Given the description of an element on the screen output the (x, y) to click on. 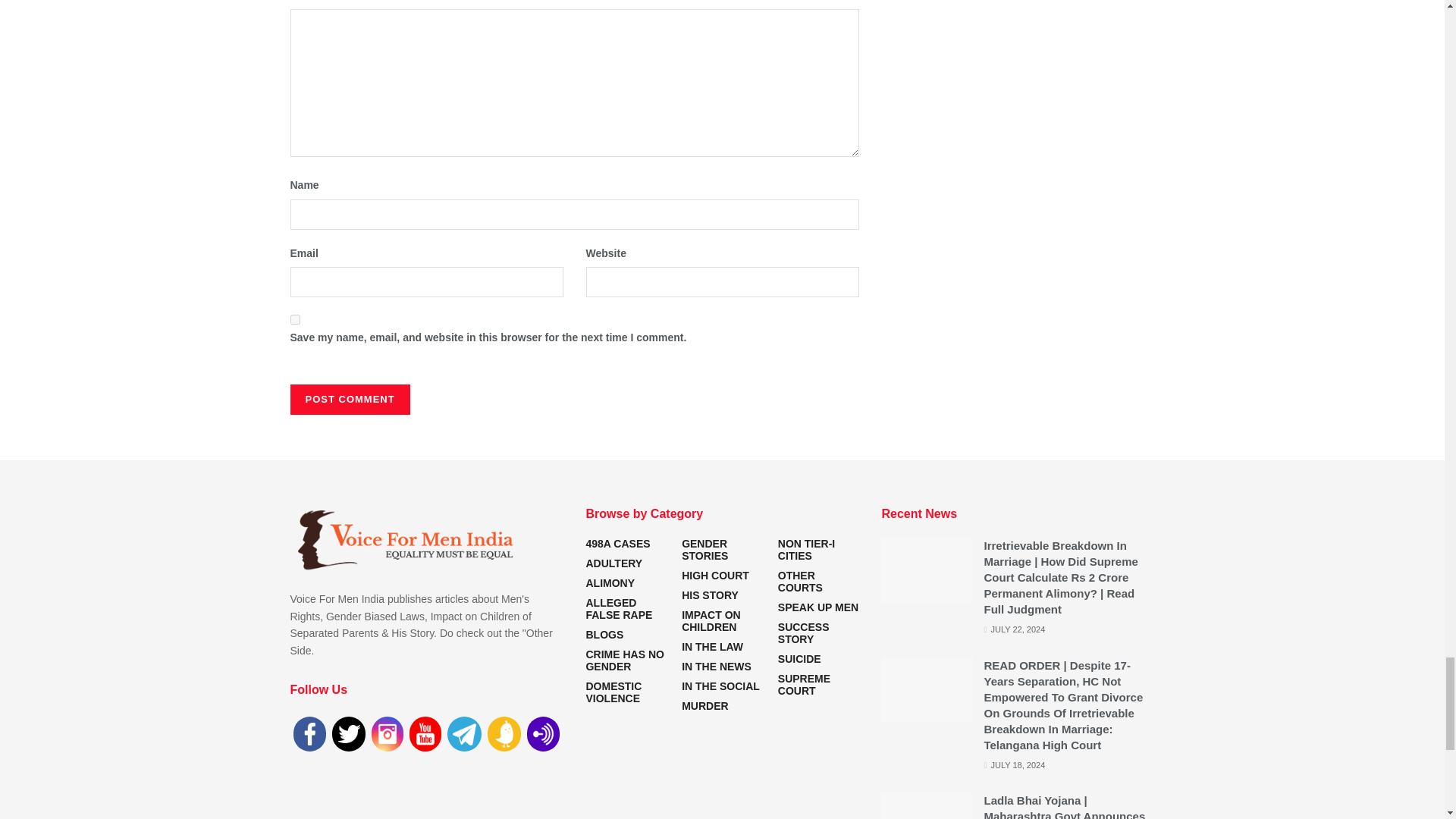
yes (294, 319)
Post Comment (349, 399)
